Given the description of an element on the screen output the (x, y) to click on. 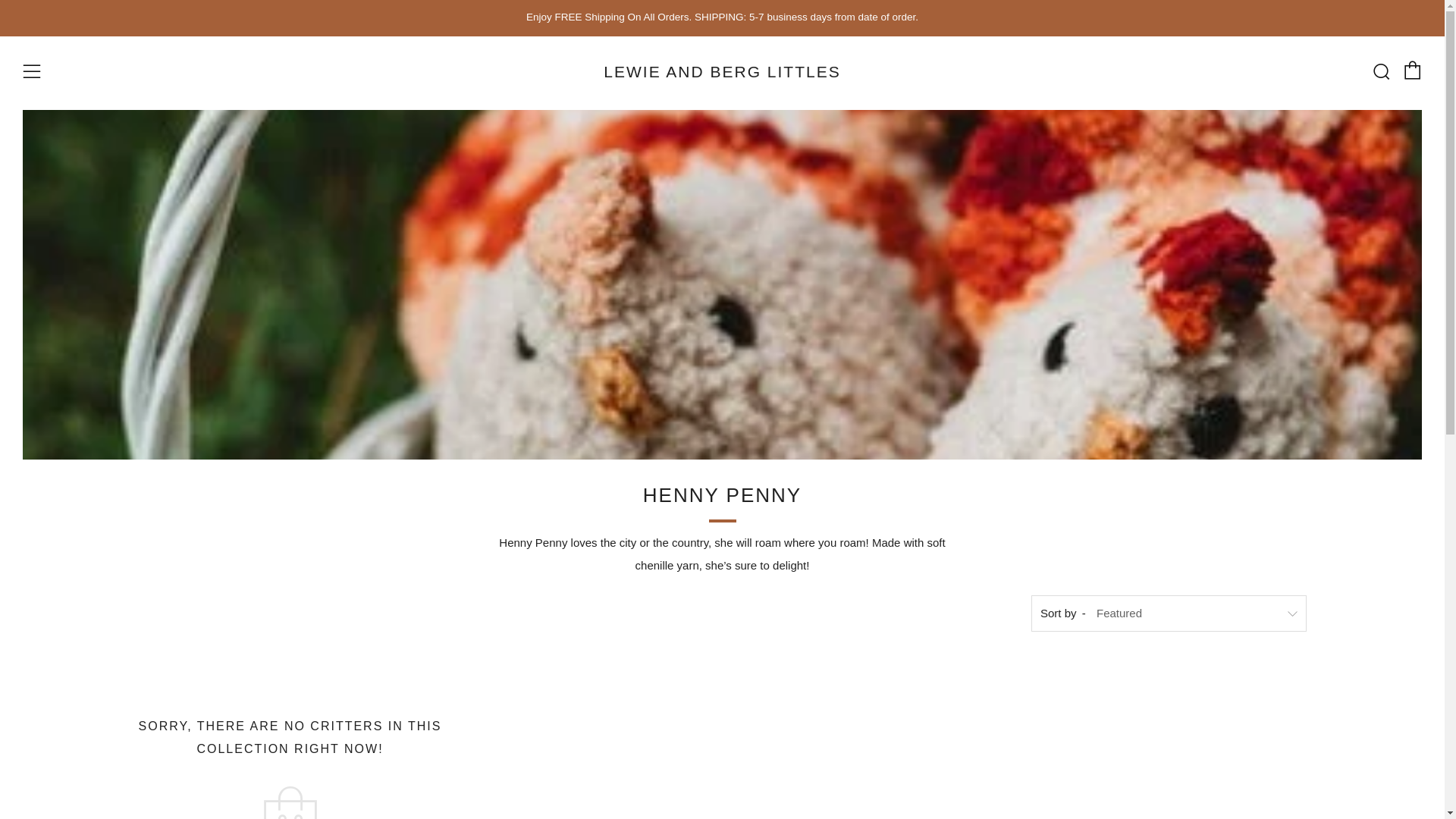
Menu (31, 72)
LEWIE AND BERG LITTLES (722, 71)
Search (1380, 71)
Cart (1412, 70)
